Given the description of an element on the screen output the (x, y) to click on. 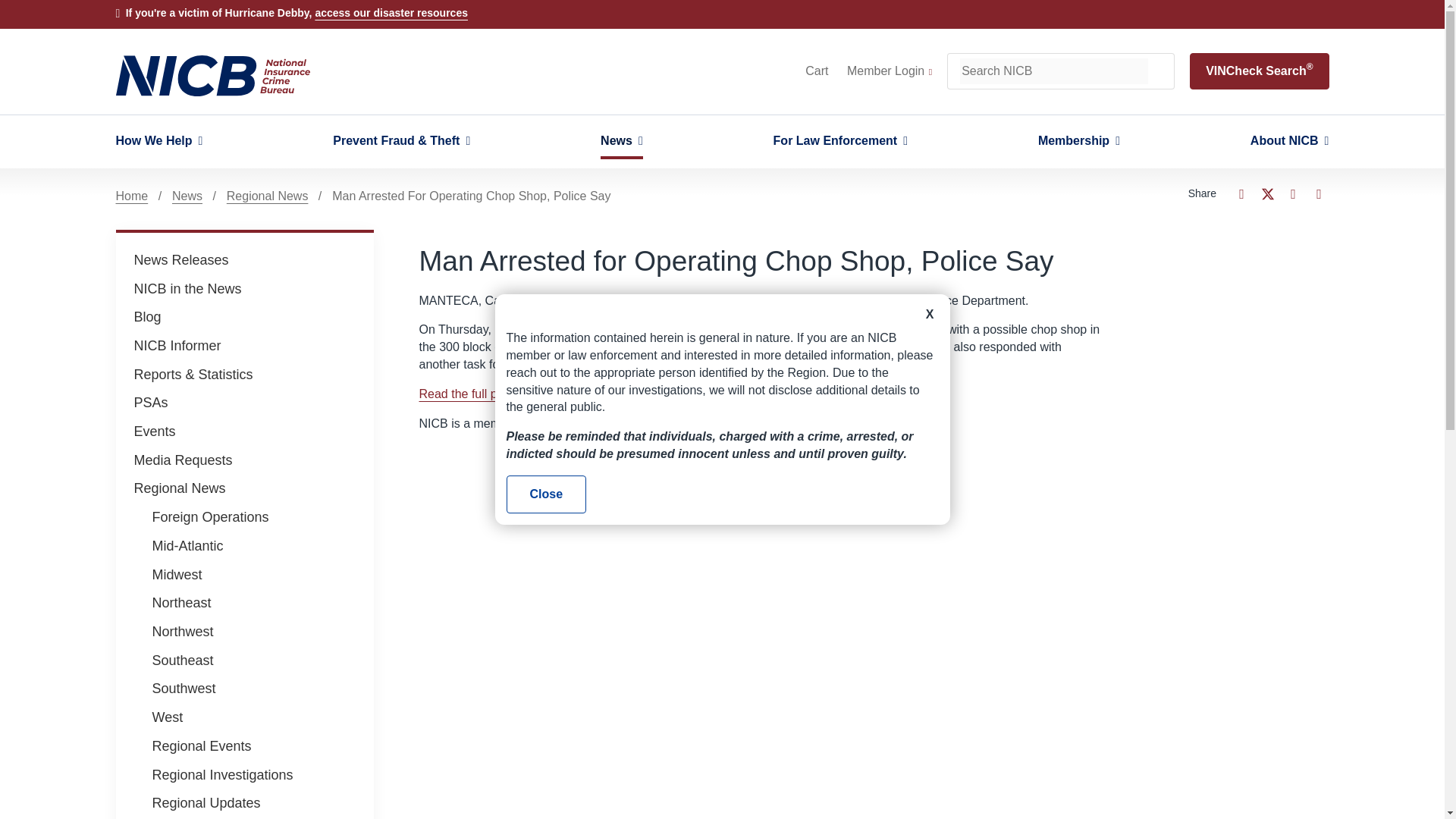
Search (1160, 71)
Member Login (889, 71)
Enter the terms you wish to search for. (1053, 71)
Cart (816, 71)
access our disaster resources (390, 12)
How We Help (158, 141)
